Given the description of an element on the screen output the (x, y) to click on. 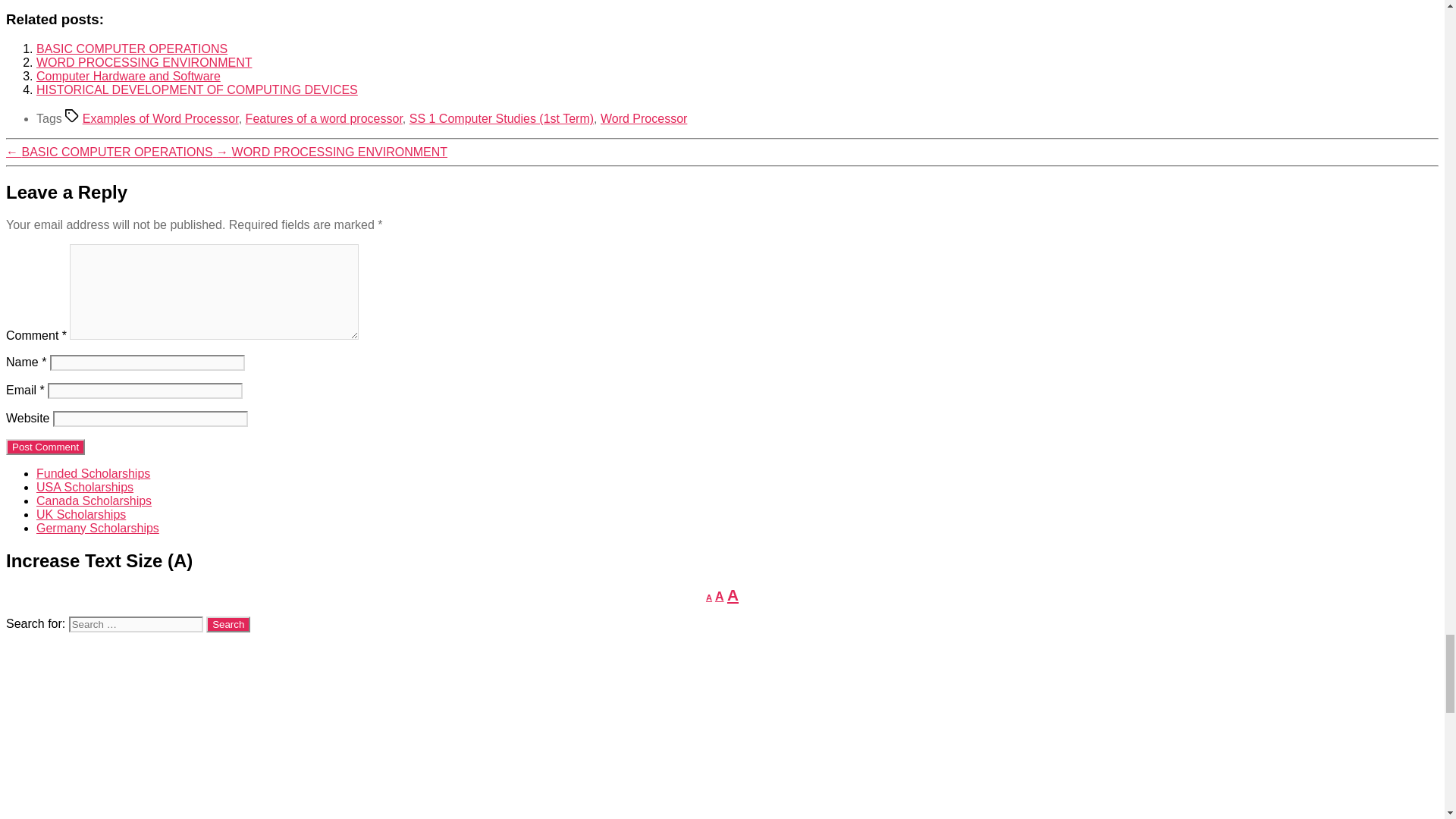
Post Comment (44, 446)
Search (228, 624)
BASIC COMPUTER OPERATIONS (131, 48)
Search (228, 624)
Computer Hardware and Software (128, 75)
HISTORICAL DEVELOPMENT OF COMPUTING DEVICES (197, 89)
WORD PROCESSING ENVIRONMENT (143, 62)
